Given the description of an element on the screen output the (x, y) to click on. 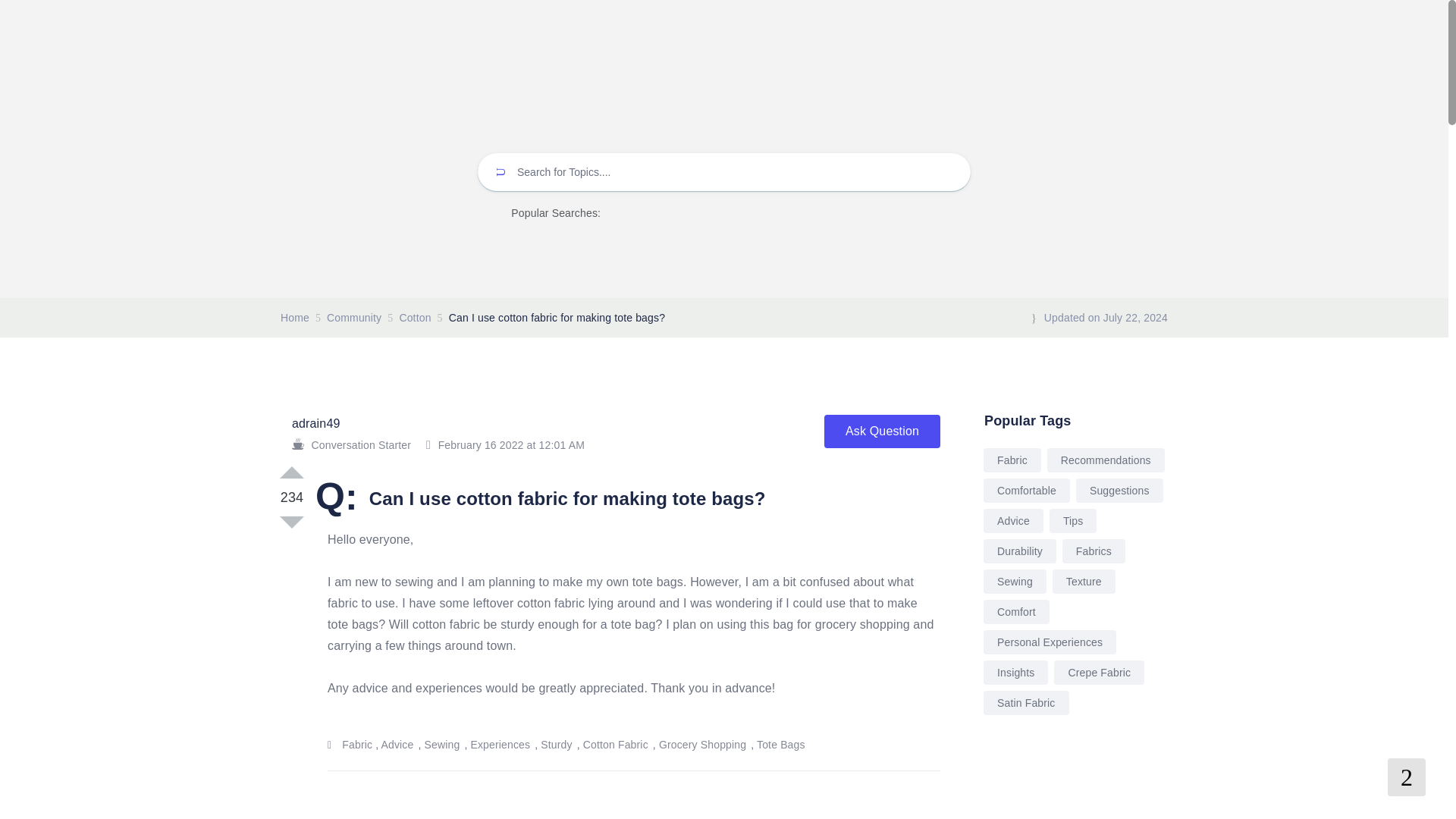
Grocery Shopping (703, 744)
Tote Bags (781, 744)
Back to Top (1406, 777)
Cotton Fabric (616, 744)
adrain49 (315, 422)
Community (353, 316)
Sewing (443, 744)
Experiences (500, 744)
Advertisement (610, 813)
Ask Question (882, 430)
Sturdy (556, 744)
Cotton (414, 316)
Advertisement (1073, 785)
Advice (397, 744)
Home (294, 316)
